Given the description of an element on the screen output the (x, y) to click on. 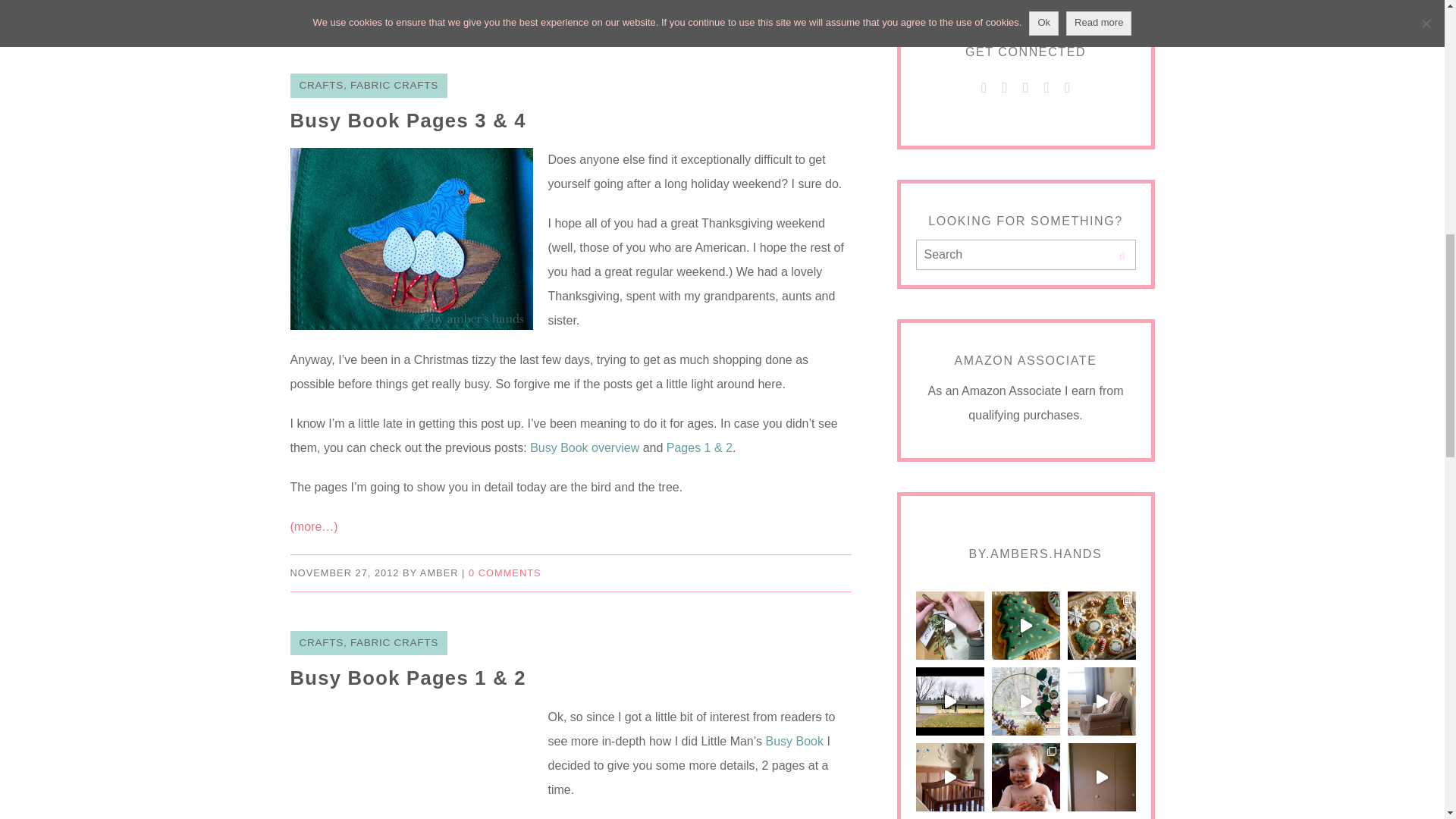
busy book window (410, 762)
busy book bird (410, 239)
FABRIC CRAFTS (394, 84)
Busy Book (793, 740)
0 COMMENTS (475, 15)
CRAFTS (320, 84)
0 COMMENTS (504, 572)
Busy Book overview (584, 447)
FABRIC CRAFTS (394, 642)
CRAFTS (320, 642)
